Given the description of an element on the screen output the (x, y) to click on. 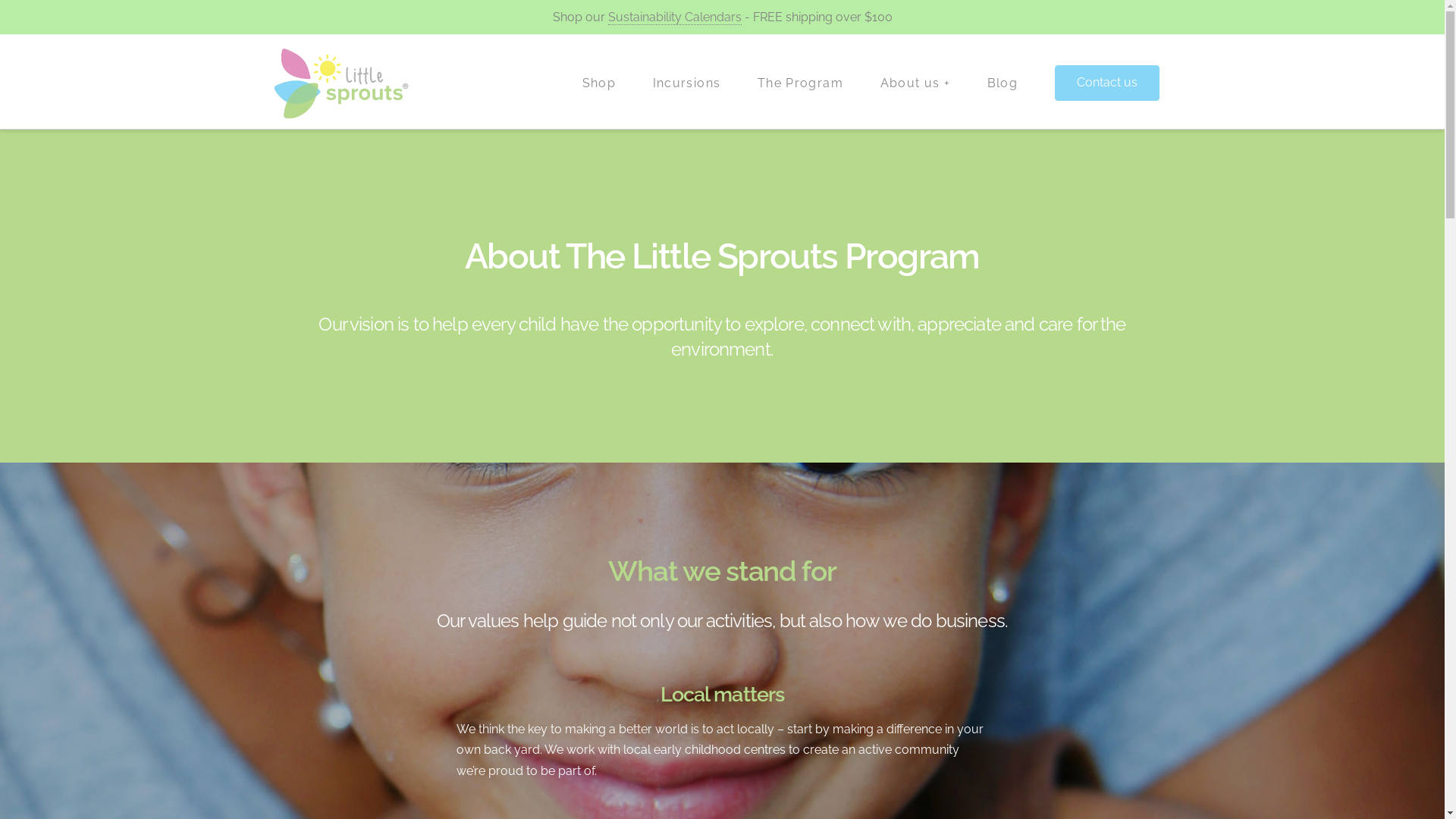
Shop Element type: text (598, 81)
Contact us Element type: text (1106, 81)
The Program Element type: text (799, 81)
Incursions Element type: text (685, 81)
About us + Element type: text (914, 81)
Contact us Element type: text (1106, 82)
Blog Element type: text (1001, 81)
Sustainability Calendars Element type: text (674, 17)
